Given the description of an element on the screen output the (x, y) to click on. 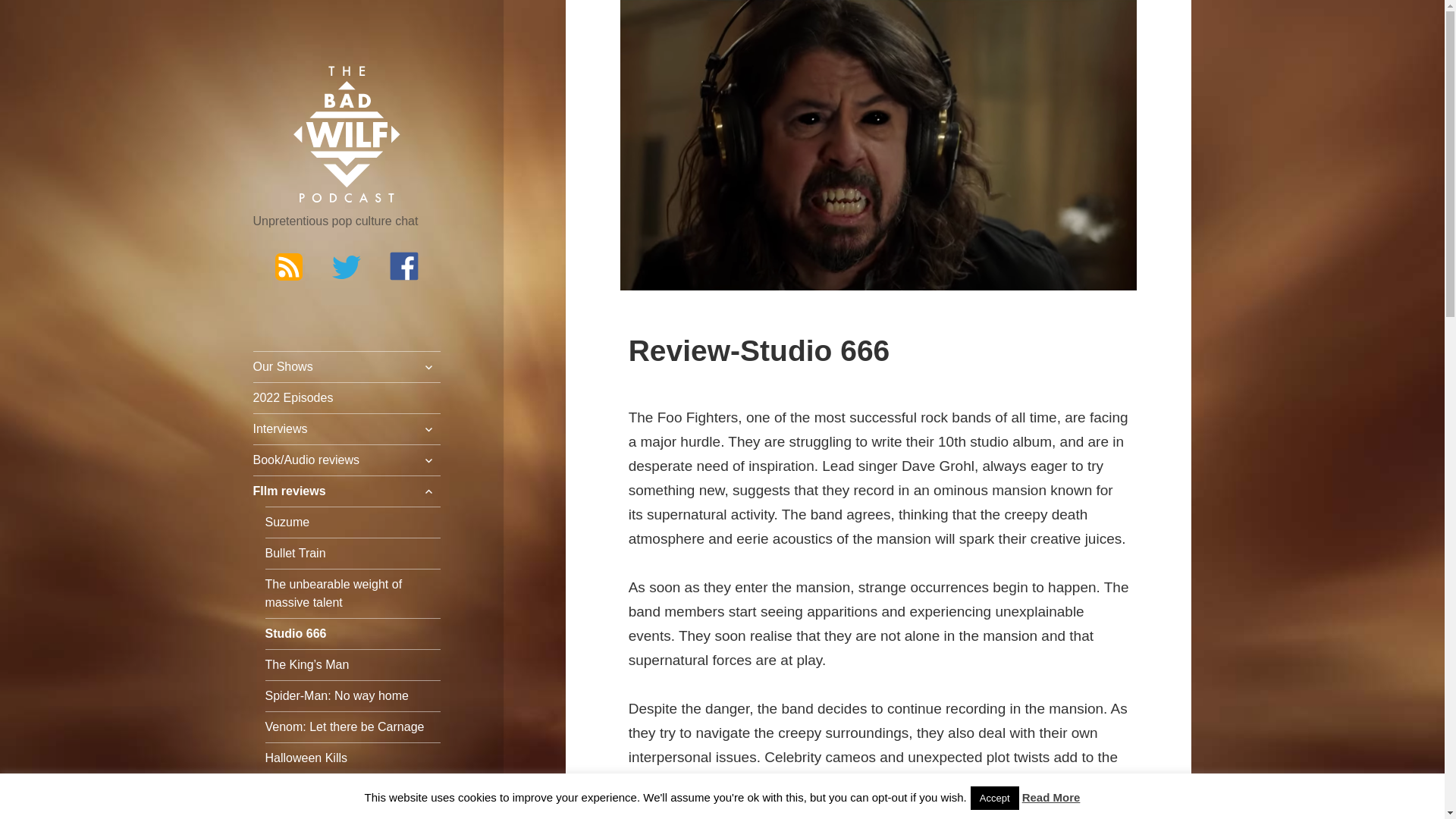
Interviews (347, 429)
The Bad Wilf Network (347, 134)
Bad Wilf Facebook Page (404, 265)
Our Shows (347, 367)
expand child menu (428, 428)
expand child menu (428, 366)
2022 Episodes (347, 398)
Subscribe to the Podcast (288, 265)
